Given the description of an element on the screen output the (x, y) to click on. 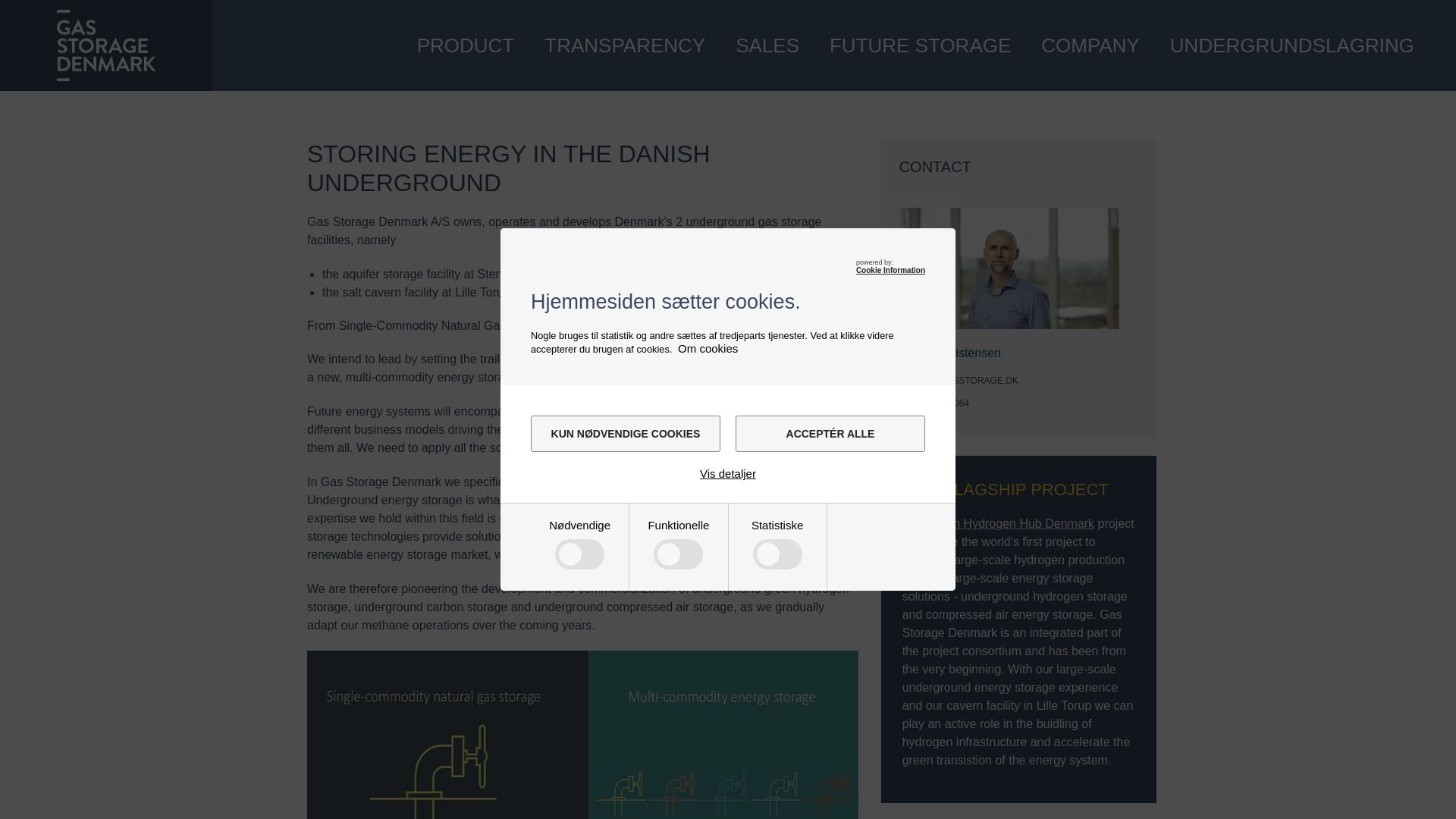
Funktionelle (579, 621)
Om cookies (708, 348)
Statistiske (579, 727)
Cookie Information (890, 270)
Vis detaljer (727, 472)
Gas Storage (105, 45)
